Given the description of an element on the screen output the (x, y) to click on. 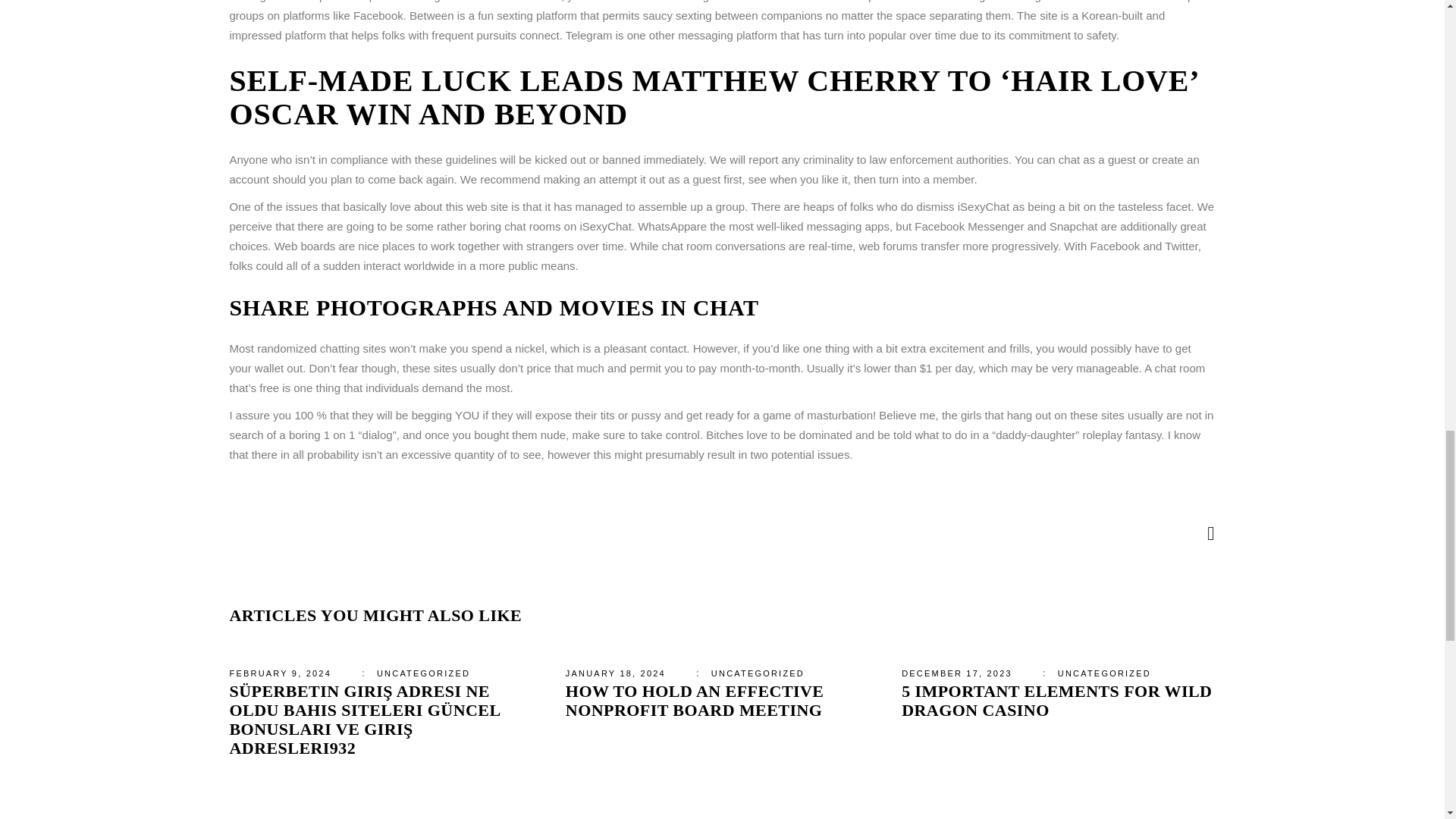
FEBRUARY 9, 2024 (279, 673)
5 Important Elements For Wild Dragon Casino (1056, 700)
UNCATEGORIZED (423, 673)
How to Hold an Effective Nonprofit Board Meeting (695, 700)
JANUARY 18, 2024 (615, 673)
